Given the description of an element on the screen output the (x, y) to click on. 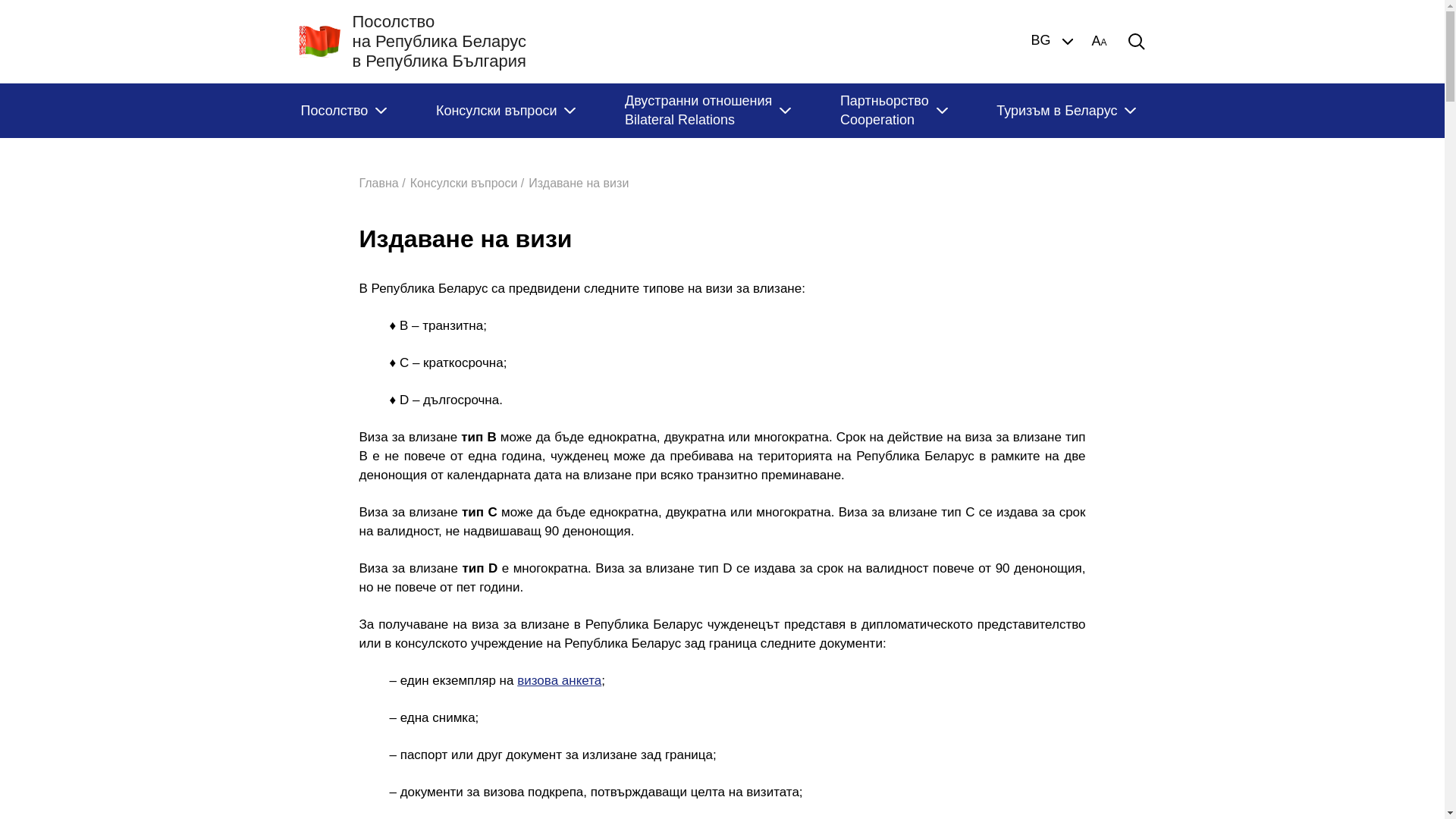
AA Element type: text (1098, 41)
